Given the description of an element on the screen output the (x, y) to click on. 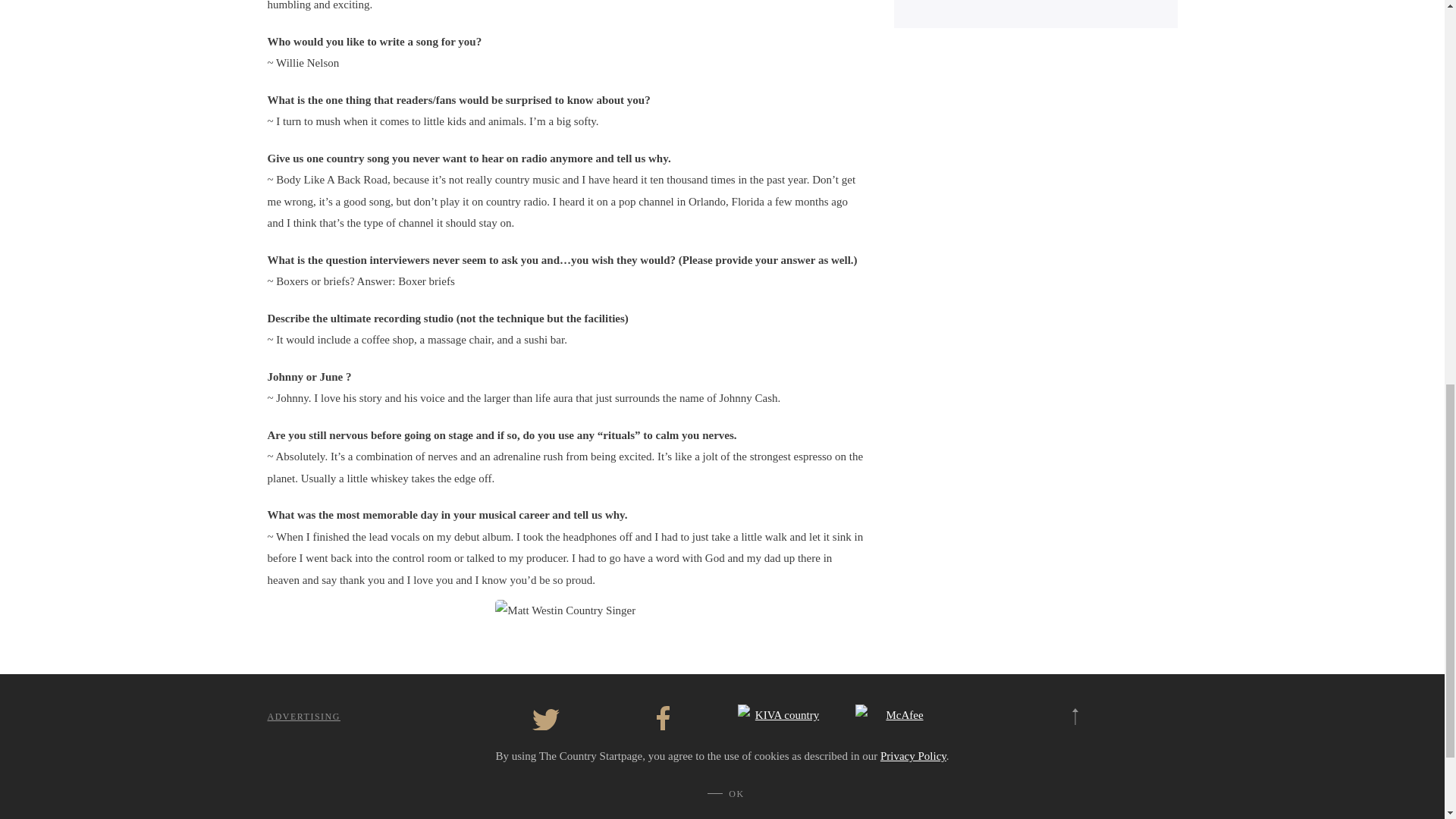
View TrustedSite Certification (899, 735)
